Given the description of an element on the screen output the (x, y) to click on. 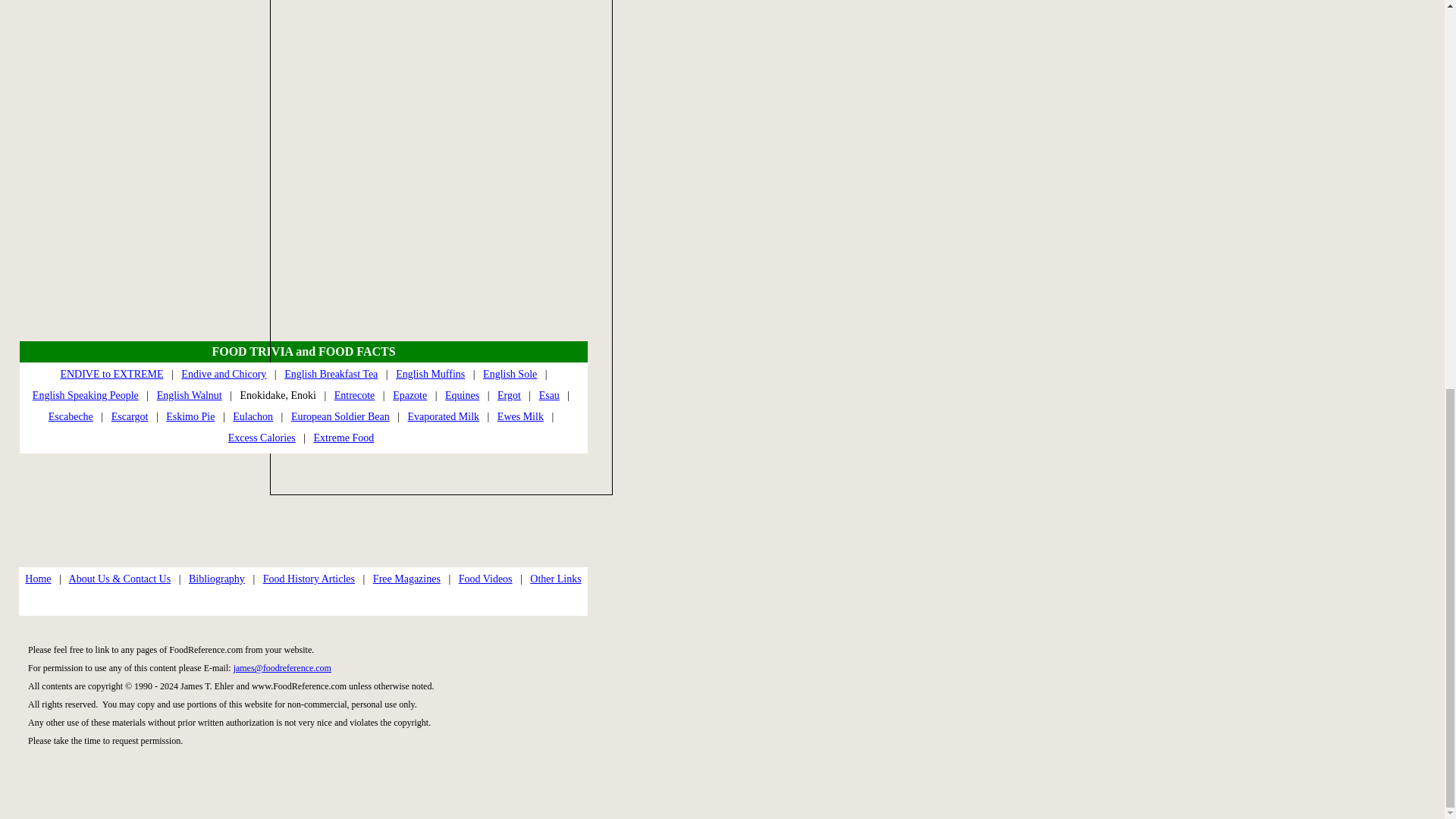
Other Links (554, 578)
Excess Calories (261, 437)
Advertisement (441, 355)
Eulachon (252, 416)
English Muffins (430, 374)
Extreme Food (344, 437)
Evaporated Milk (443, 416)
Escargot (130, 416)
European Soldier Bean (340, 416)
Equines (462, 395)
